Given the description of an element on the screen output the (x, y) to click on. 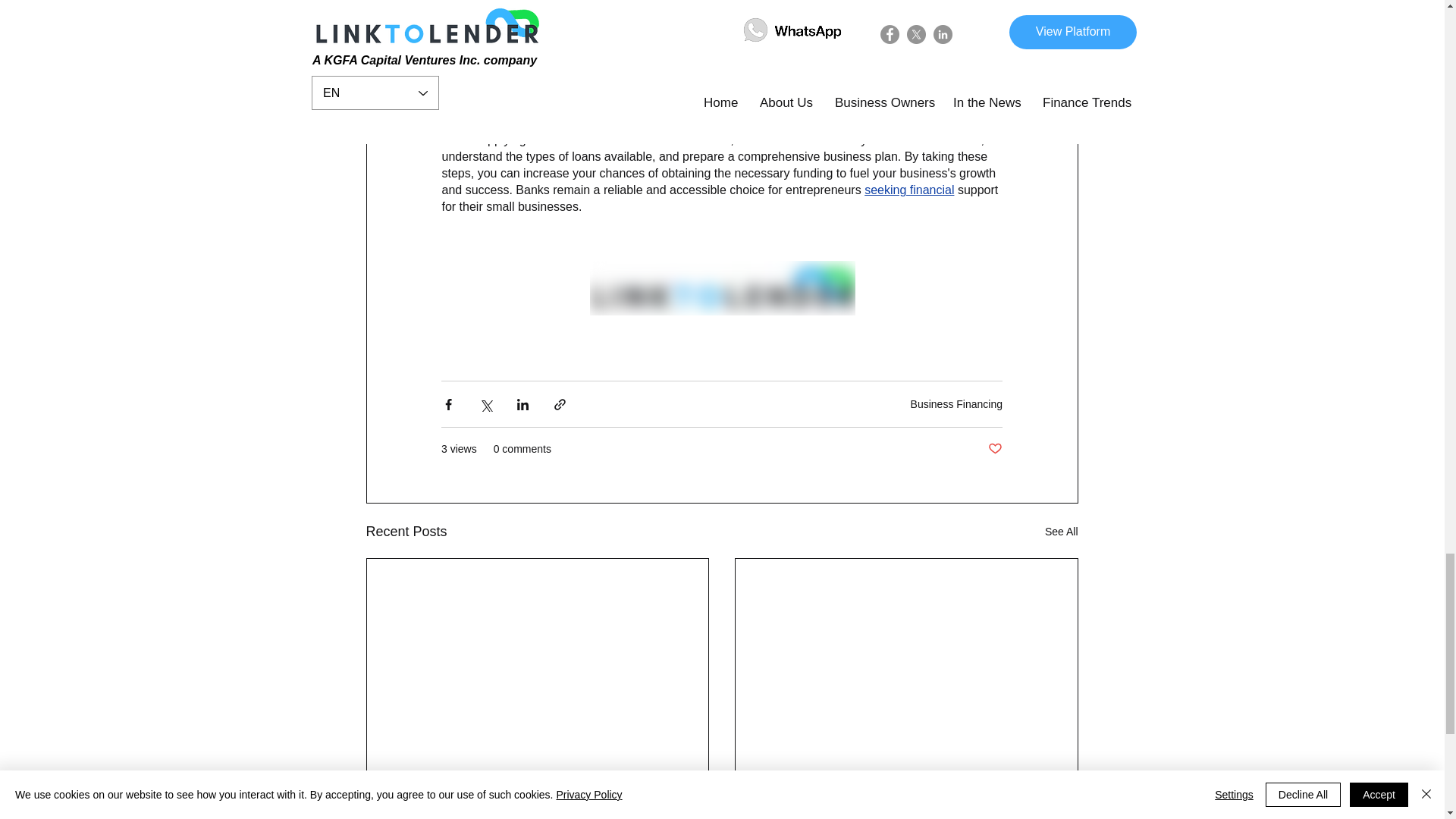
seeking financial (908, 190)
See All (1061, 531)
Post not marked as liked (995, 449)
Business Financing (957, 404)
